Given the description of an element on the screen output the (x, y) to click on. 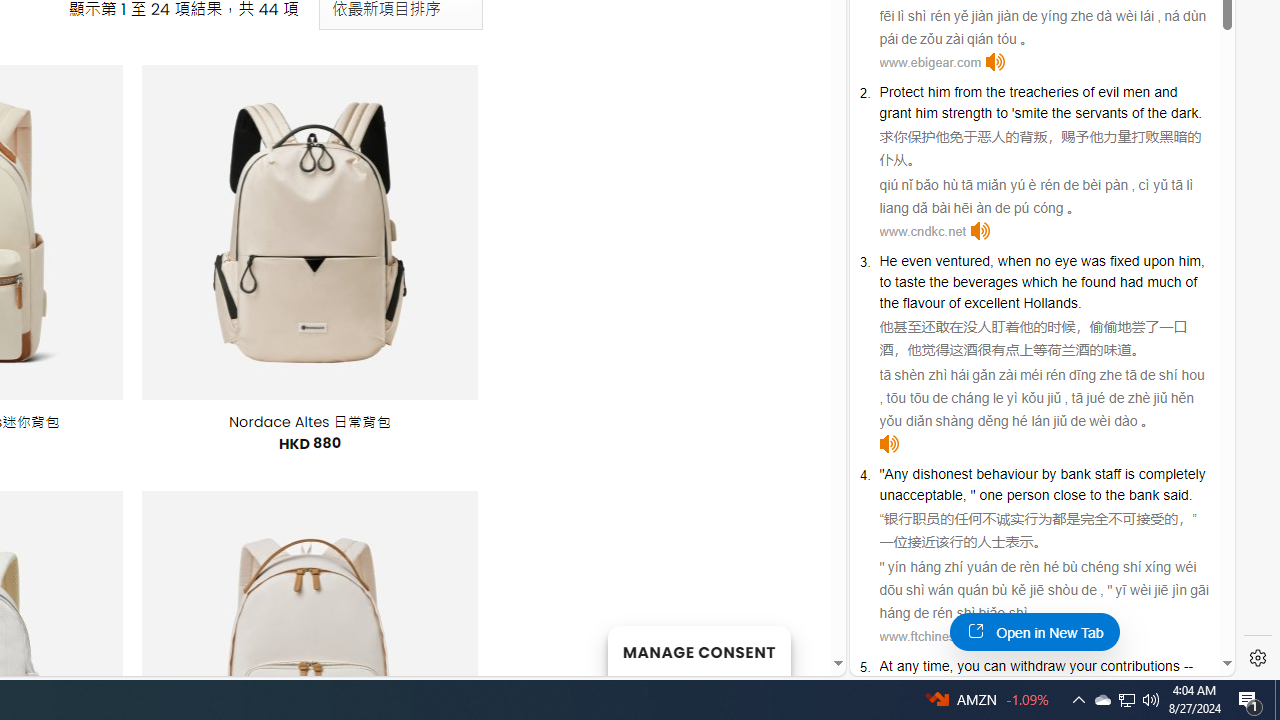
staff (1107, 473)
from (968, 92)
Any (896, 473)
